Given the description of an element on the screen output the (x, y) to click on. 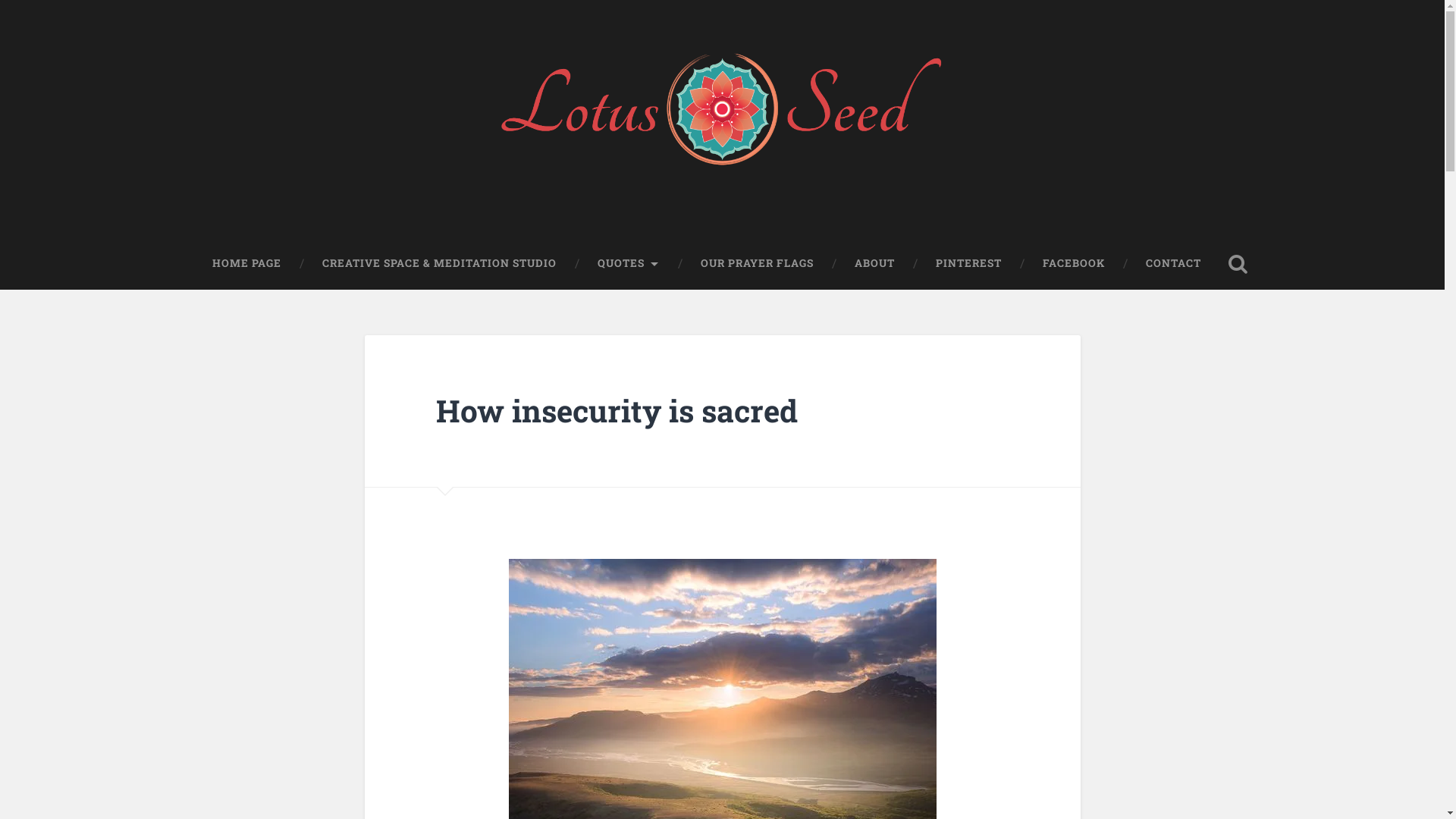
QUOTES Element type: text (627, 263)
CREATIVE SPACE & MEDITATION STUDIO Element type: text (439, 263)
How insecurity is sacred Element type: text (616, 410)
HOME PAGE Element type: text (246, 263)
Lotus Seed Element type: text (263, 199)
CONTACT Element type: text (1173, 263)
Open Search Element type: text (1237, 263)
OUR PRAYER FLAGS Element type: text (756, 263)
PINTEREST Element type: text (967, 263)
FACEBOOK Element type: text (1073, 263)
ABOUT Element type: text (874, 263)
